Given the description of an element on the screen output the (x, y) to click on. 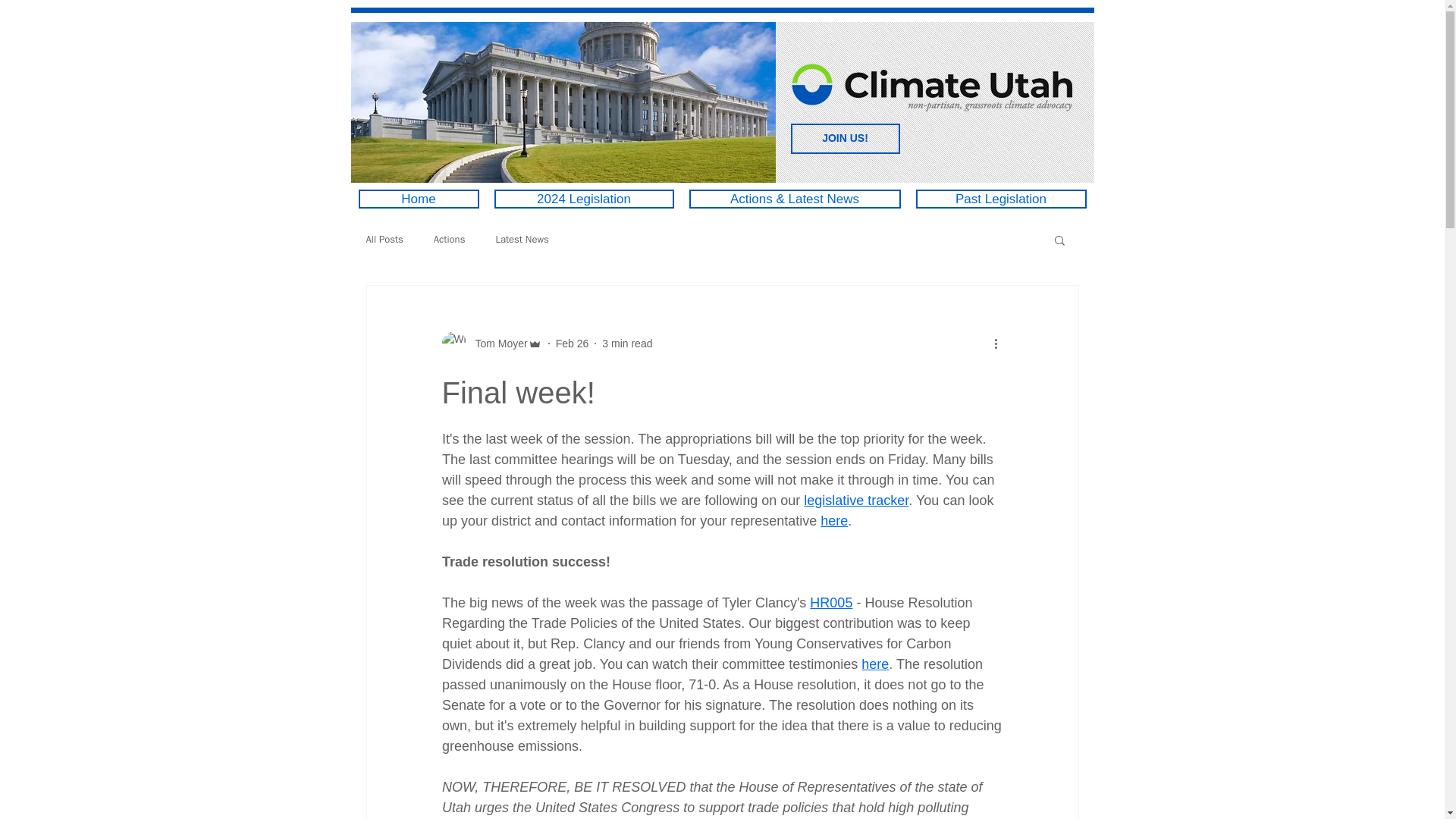
Tom Moyer (496, 342)
JOIN US! (844, 138)
Home (418, 198)
Feb 26 (572, 342)
here (874, 663)
2024 Legislation (584, 198)
All Posts (384, 239)
HR005 (830, 602)
3 min read (627, 342)
Past Legislation (1000, 198)
Latest News (521, 239)
legislative tracker (855, 500)
Actions (449, 239)
here (834, 520)
